Given the description of an element on the screen output the (x, y) to click on. 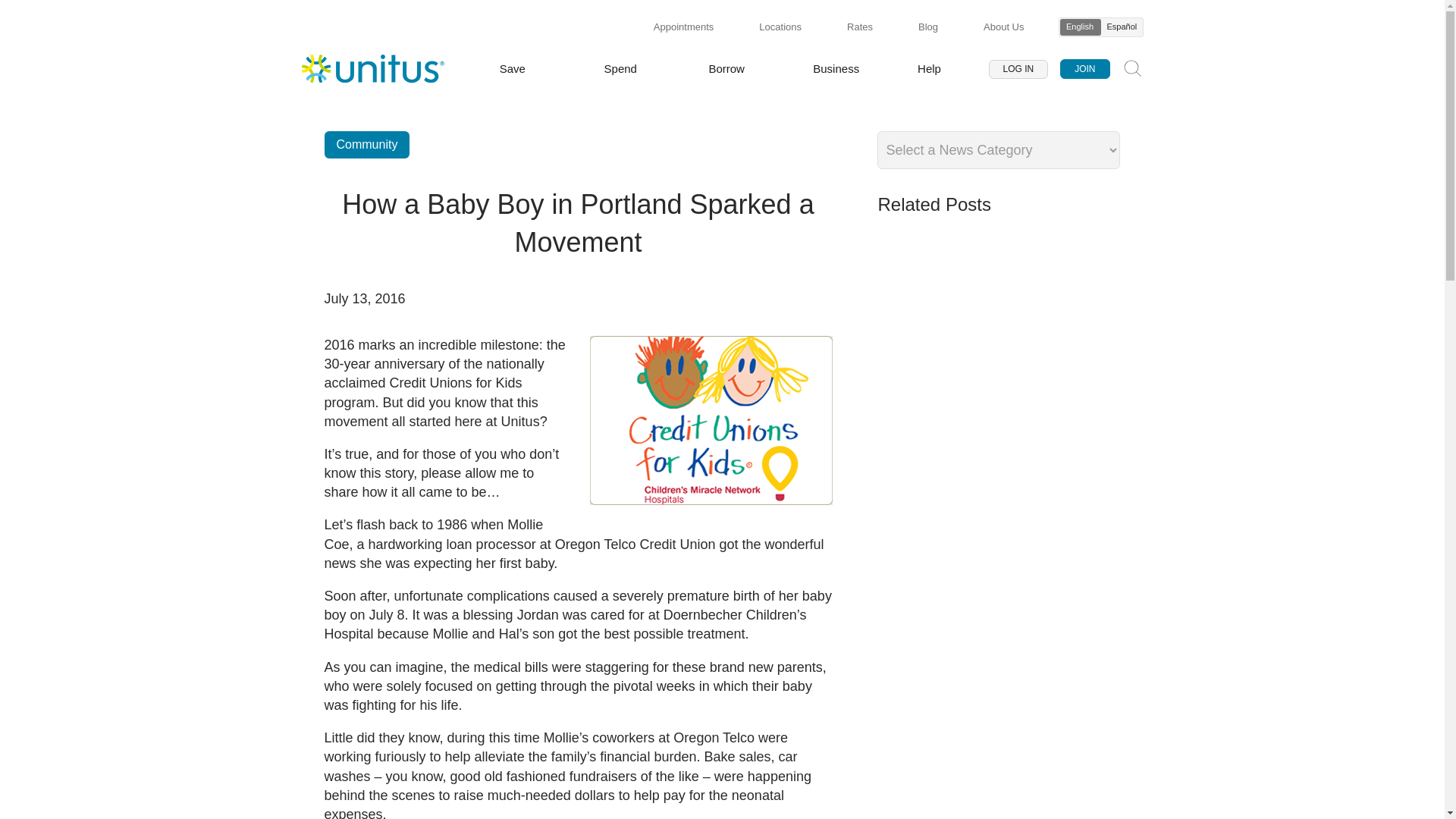
Appointments (683, 26)
Help (928, 71)
Rates (859, 26)
About Us (1003, 26)
Locations (780, 26)
Blog (927, 26)
Spend (620, 71)
Unitus Community Credit Union Home (372, 68)
Business (835, 71)
Borrow (725, 71)
Save (512, 71)
